Given the description of an element on the screen output the (x, y) to click on. 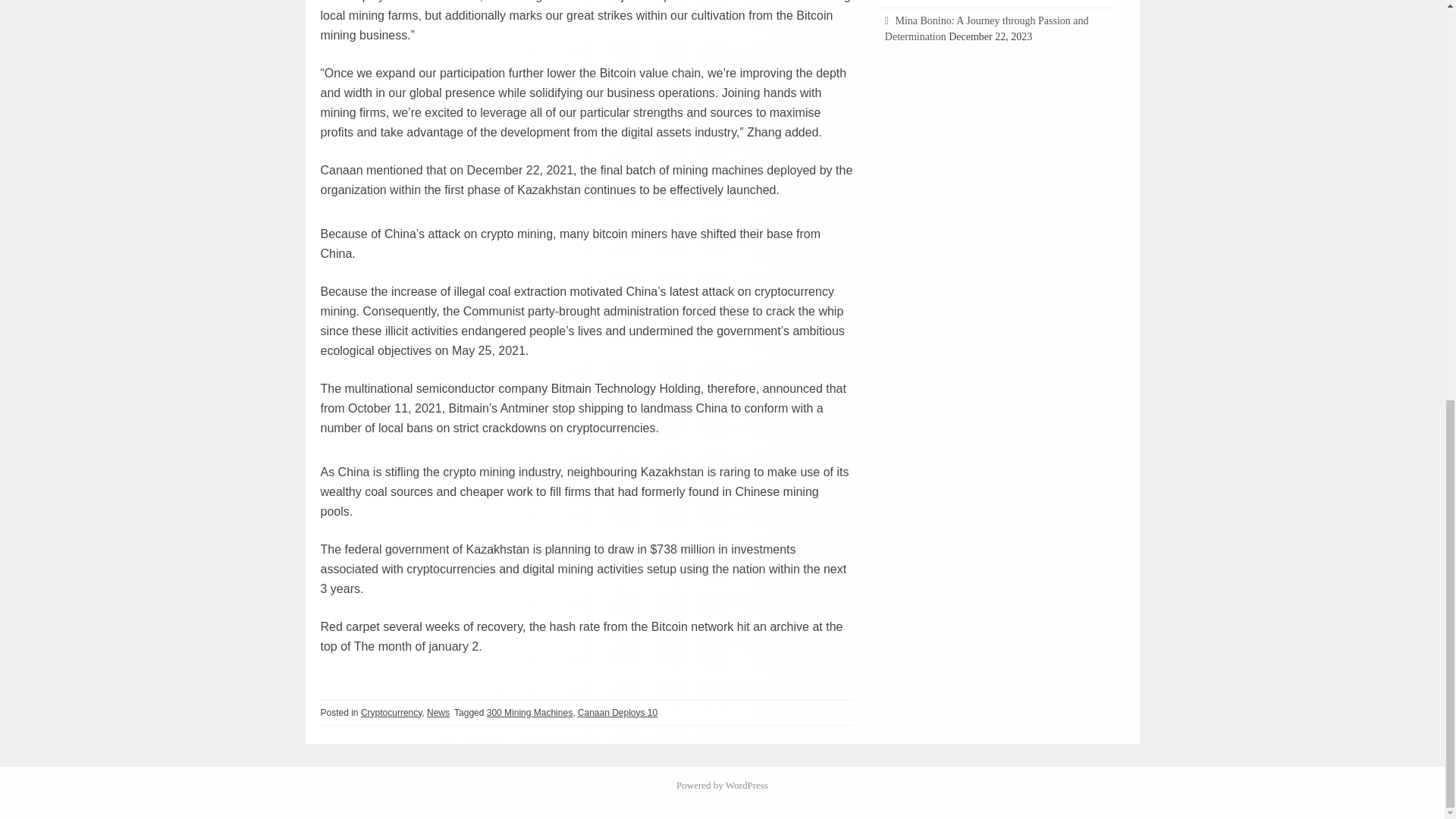
300 Mining Machines (529, 712)
News (437, 712)
Mina Bonino: A Journey through Passion and Determination (987, 28)
Canaan Deploys 10 (618, 712)
Cryptocurrency (391, 712)
